Given the description of an element on the screen output the (x, y) to click on. 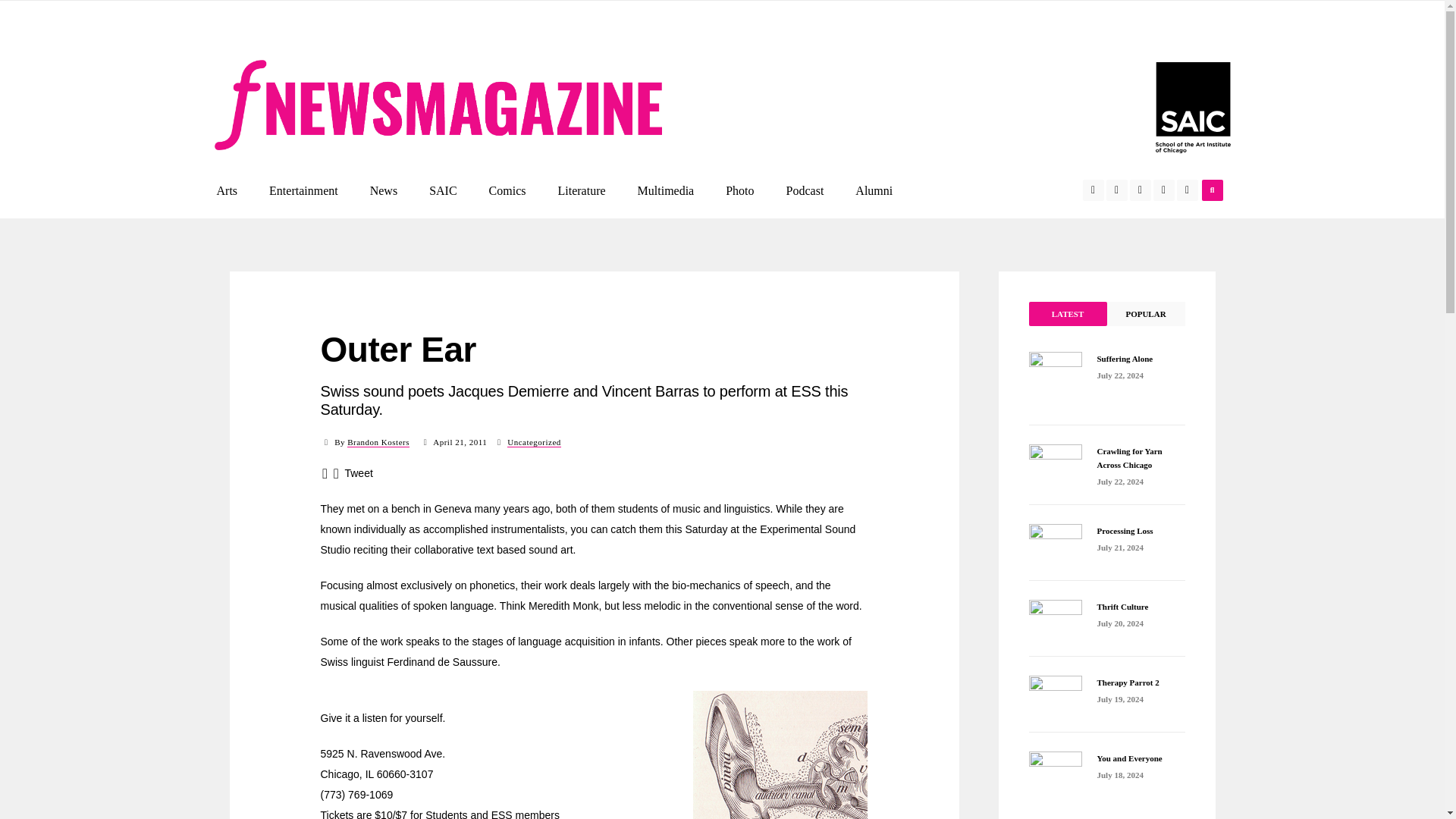
Arts (226, 189)
Entertainment (303, 189)
